Given the description of an element on the screen output the (x, y) to click on. 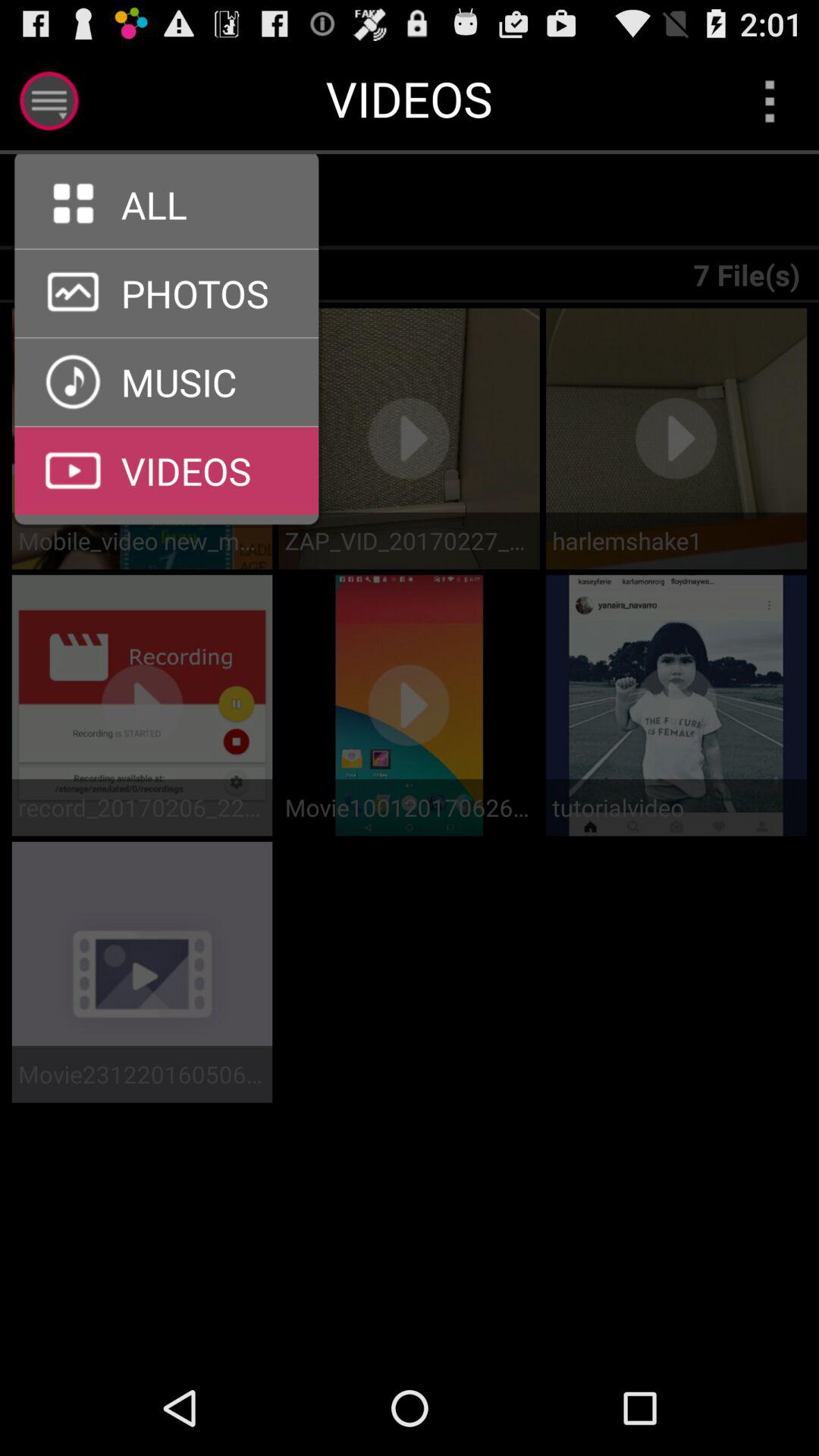
view more options (769, 100)
